Given the description of an element on the screen output the (x, y) to click on. 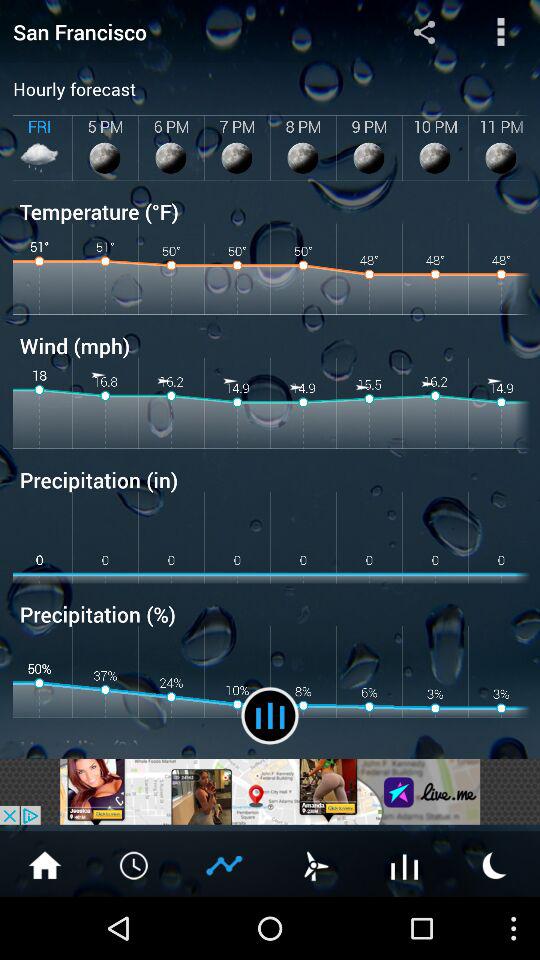
flip until san francisco (179, 31)
